Given the description of an element on the screen output the (x, y) to click on. 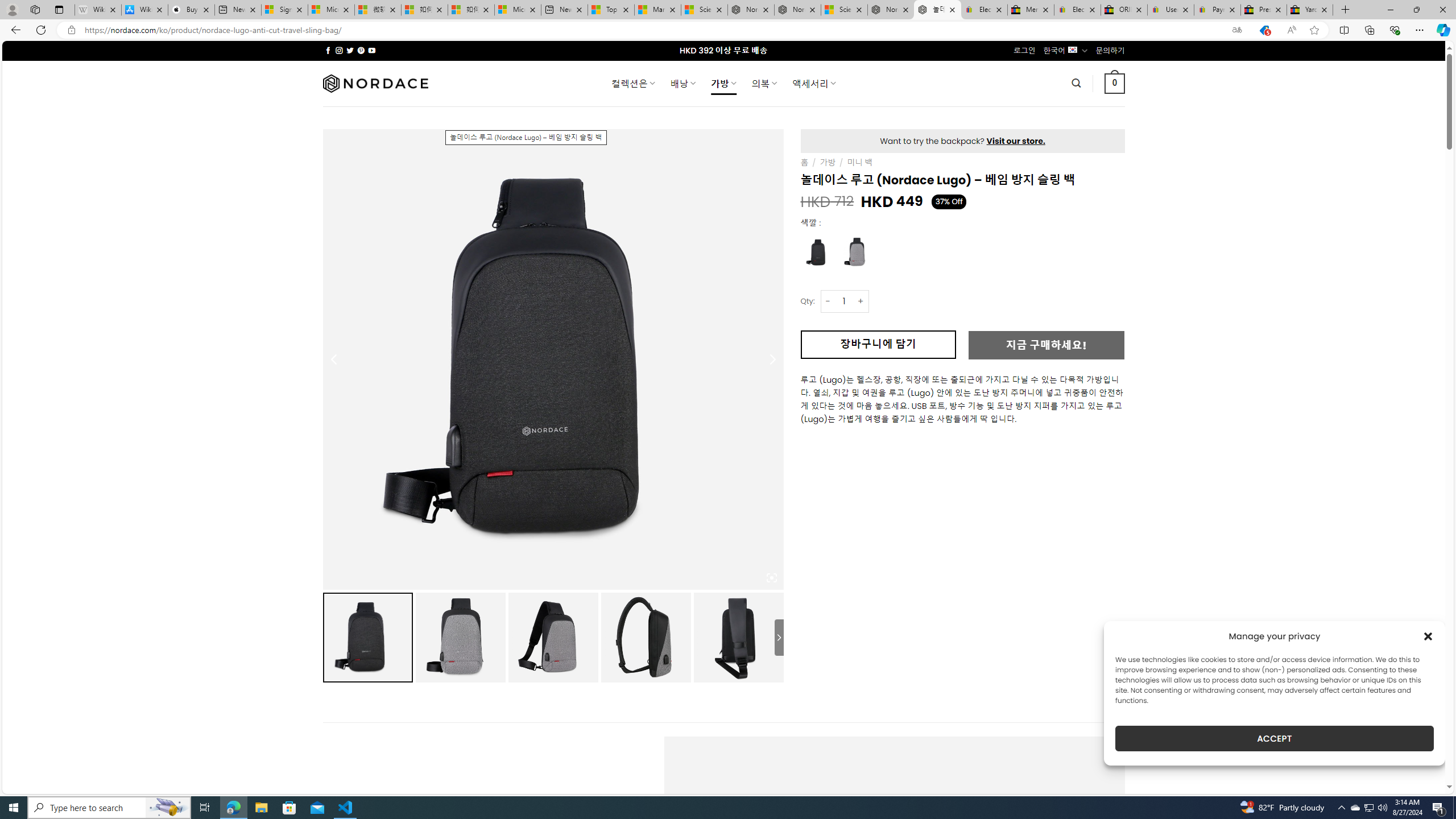
You have the best price! (1263, 29)
ACCEPT (1274, 738)
- (827, 300)
Follow on Pinterest (360, 50)
